Given the description of an element on the screen output the (x, y) to click on. 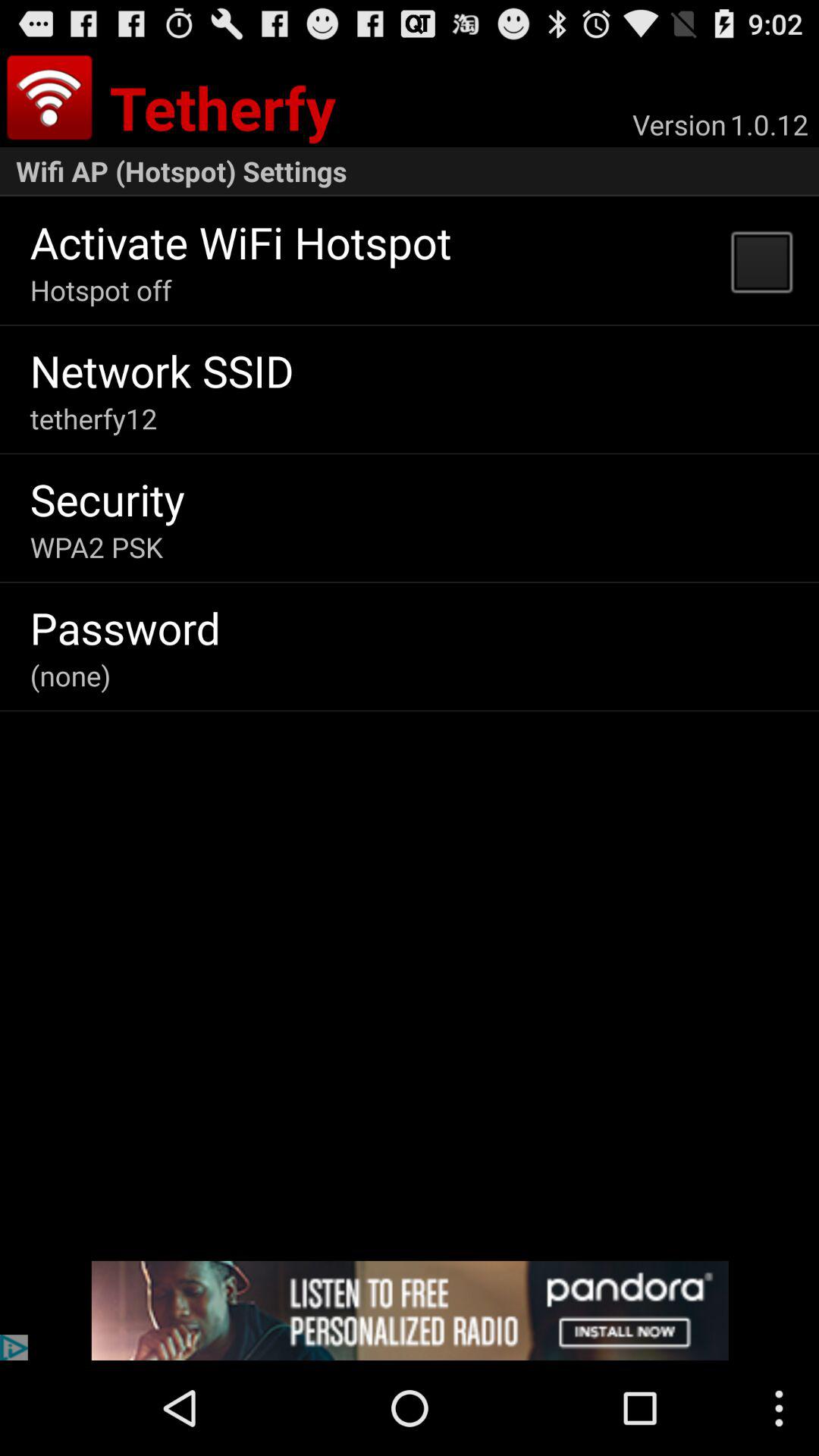
turn on the network ssid item (162, 370)
